Given the description of an element on the screen output the (x, y) to click on. 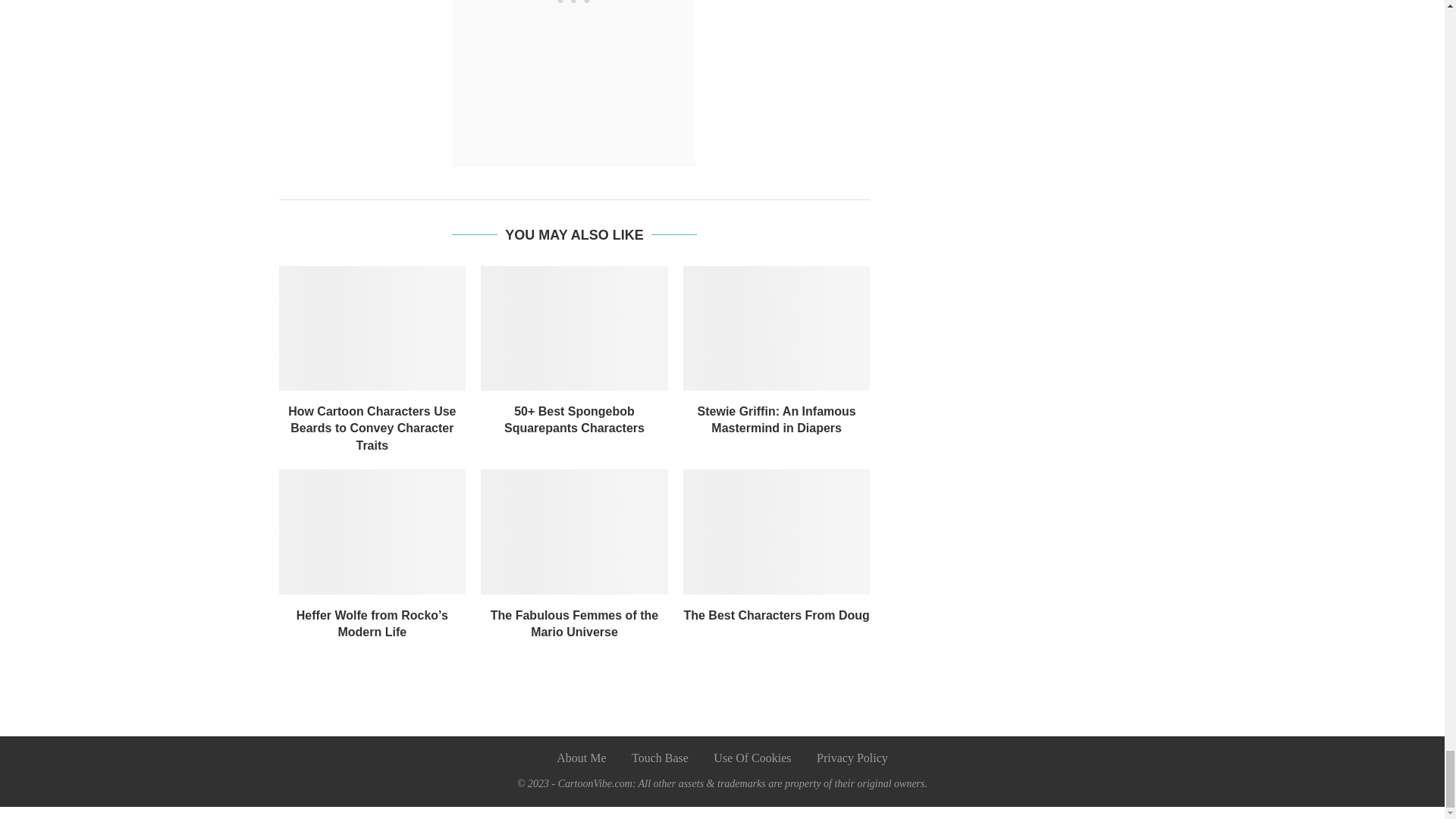
Privacy Policy (852, 757)
About Me (580, 757)
Stewie Griffin: An Infamous Mastermind in Diapers (776, 328)
The Best Characters From Doug (775, 615)
How Cartoon Characters Use Beards to Convey Character Traits (371, 428)
Use Of Cookies (751, 757)
The Fabulous Femmes of the Mario Universe (574, 531)
Stewie Griffin: An Infamous Mastermind in Diapers (776, 419)
The Best Characters From Doug (776, 531)
The Fabulous Femmes of the Mario Universe (574, 623)
Touch Base (659, 757)
How Cartoon Characters Use Beards to Convey Character Traits (372, 328)
